Given the description of an element on the screen output the (x, y) to click on. 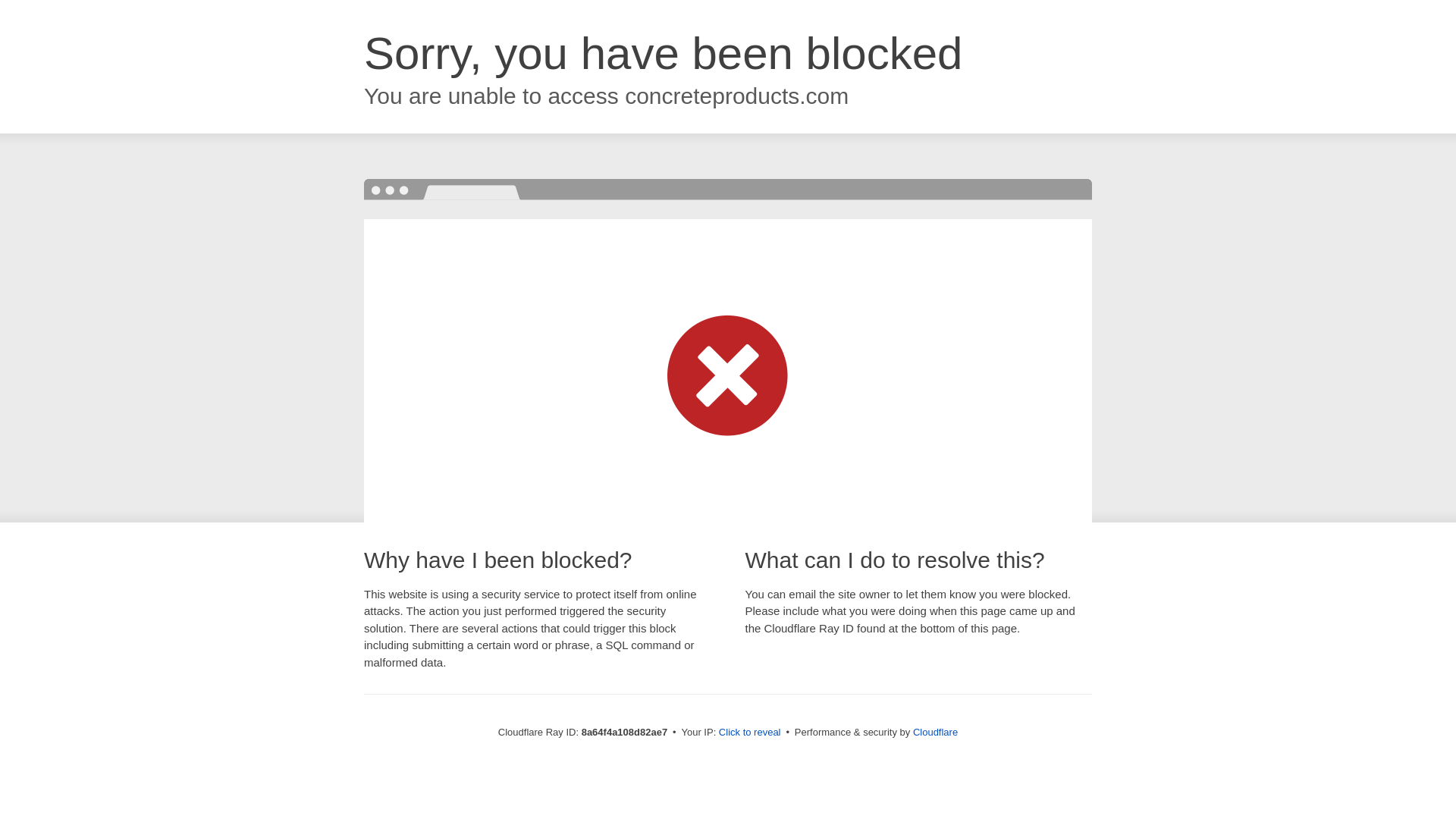
Click to reveal (749, 732)
Cloudflare (935, 731)
